Given the description of an element on the screen output the (x, y) to click on. 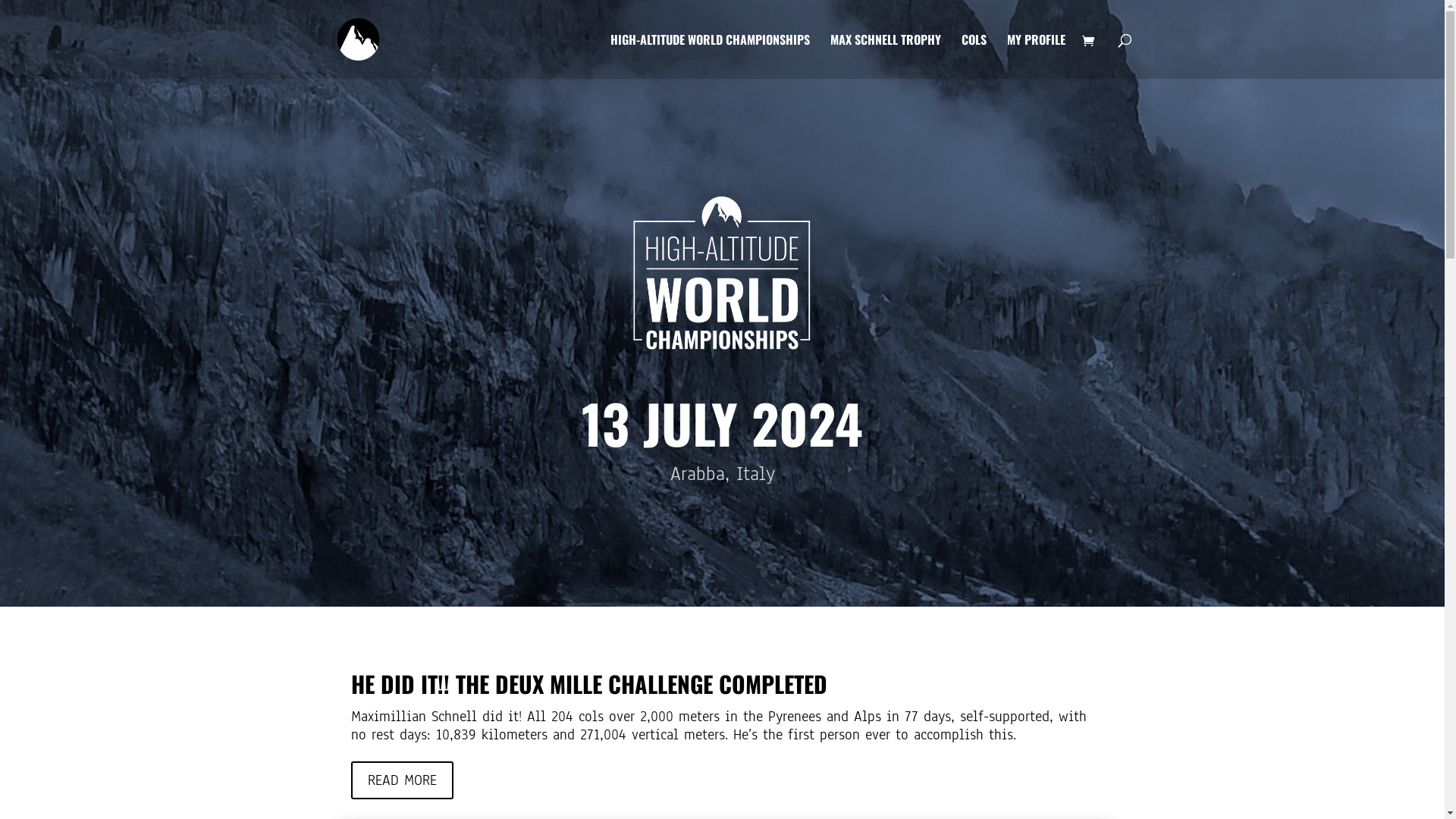
READ MORE Element type: text (401, 780)
COLS Element type: text (973, 56)
MAX SCHNELL TROPHY Element type: text (884, 56)
Deux Mille HAWC Logo-1 Element type: hover (722, 272)
HIGH-ALTITUDE WORLD CHAMPIONSHIPS Element type: text (709, 56)
MY PROFILE Element type: text (1036, 56)
